Given the description of an element on the screen output the (x, y) to click on. 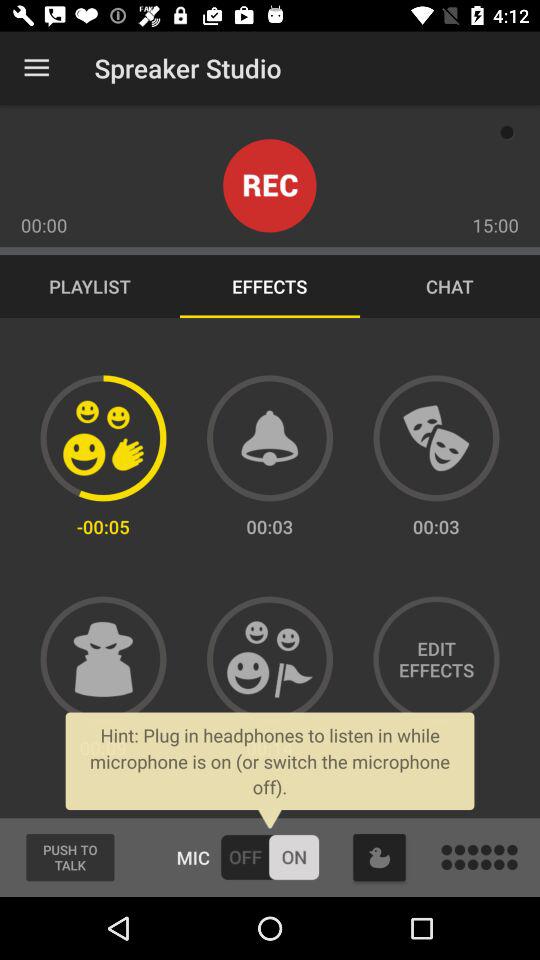
select the effect (270, 659)
